Given the description of an element on the screen output the (x, y) to click on. 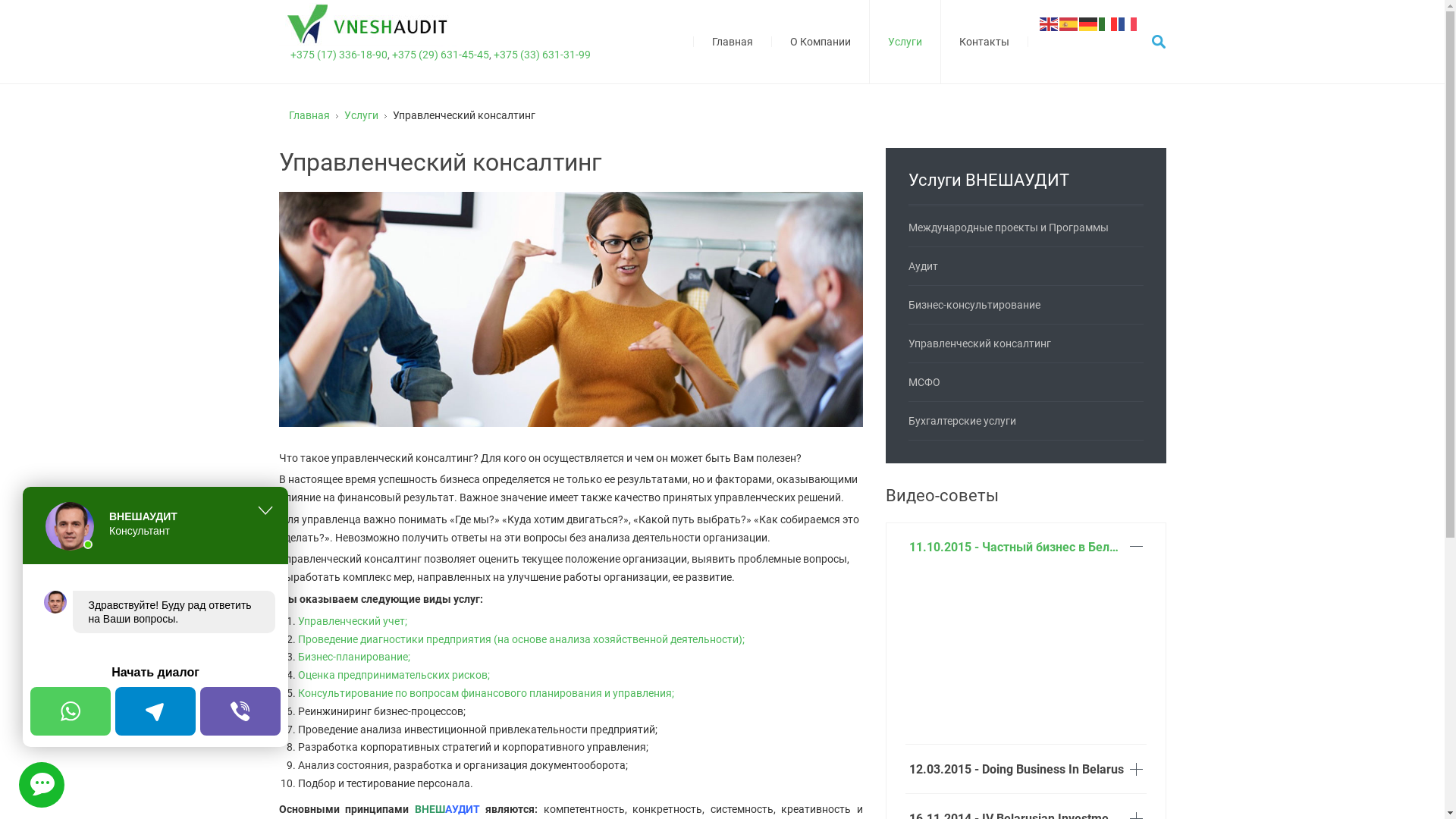
Telegram Element type: hover (155, 711)
+375 (33) 631-31-99 Element type: text (540, 54)
+375 (17) 336-18-90 Element type: text (337, 54)
English Element type: hover (1048, 23)
  Element type: text (41, 784)
Phone Element type: hover (240, 711)
+375 (29) 631-45-45 Element type: text (439, 54)
Deutsch Element type: hover (1088, 23)
Italiano Element type: hover (1107, 23)
WhatsApp Element type: hover (70, 711)
